Given the description of an element on the screen output the (x, y) to click on. 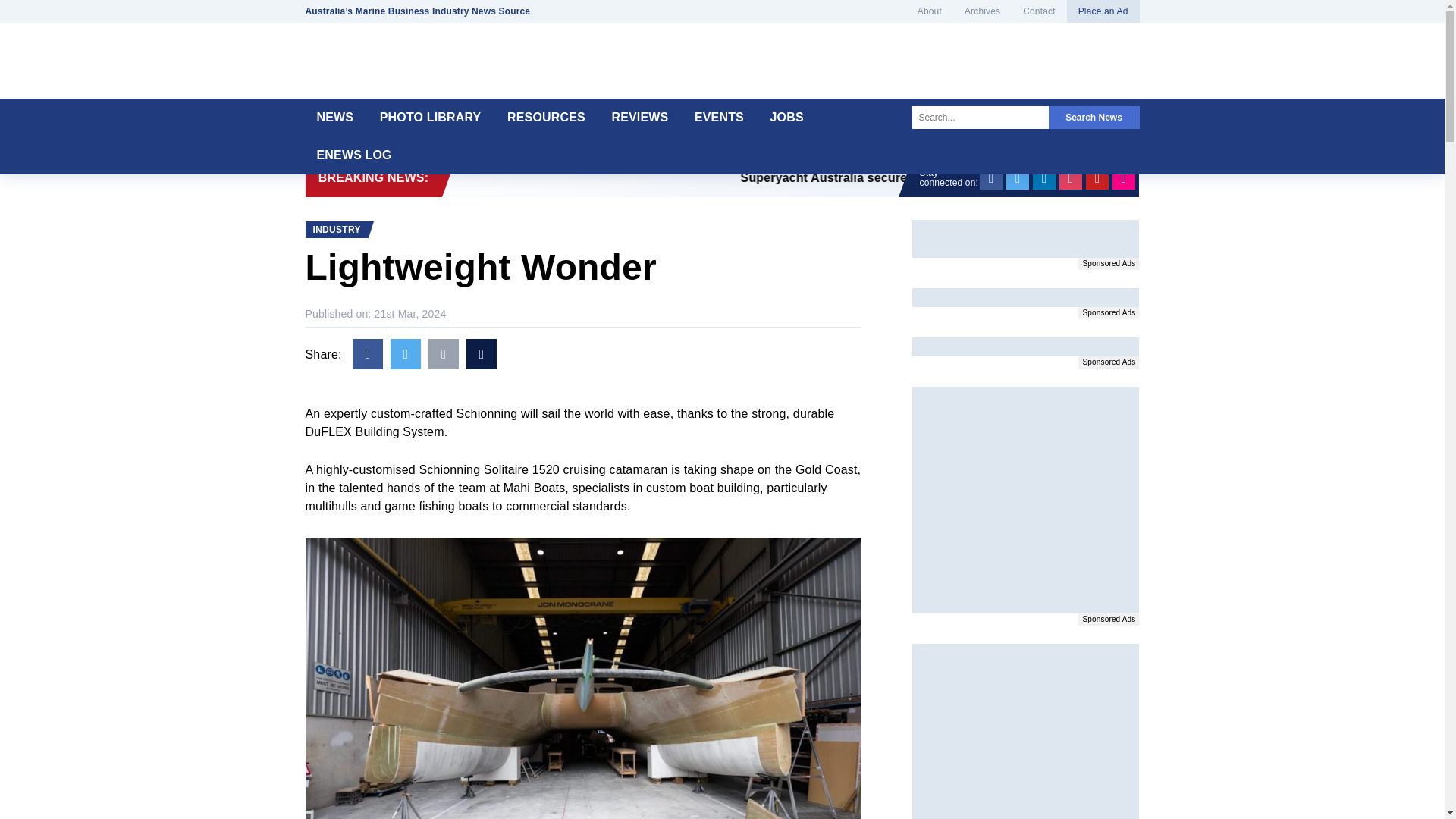
Place an Ad (1103, 11)
Contact (1038, 11)
Share on Twitter (405, 354)
Print (480, 354)
Archives (982, 11)
NEWS (334, 117)
ENEWS LOG (353, 155)
REVIEWS (639, 117)
JOBS (786, 117)
About (929, 11)
RESOURCES (546, 117)
EVENTS (718, 117)
PHOTO LIBRARY (430, 117)
Share with Email (443, 354)
Share on Facebook (367, 354)
